Given the description of an element on the screen output the (x, y) to click on. 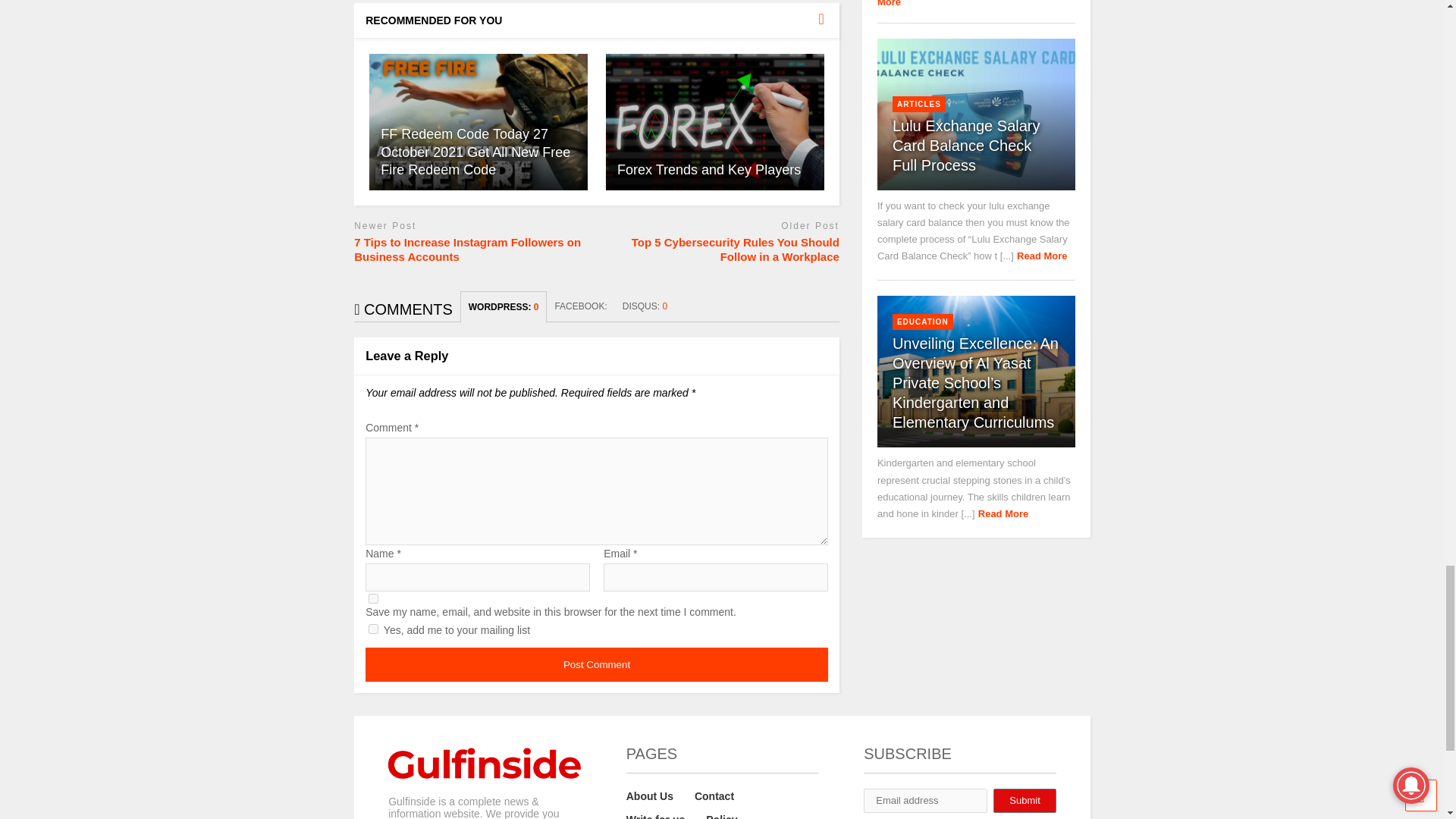
1 (373, 628)
Submit (1023, 800)
yes (373, 598)
Post Comment (596, 664)
